Given the description of an element on the screen output the (x, y) to click on. 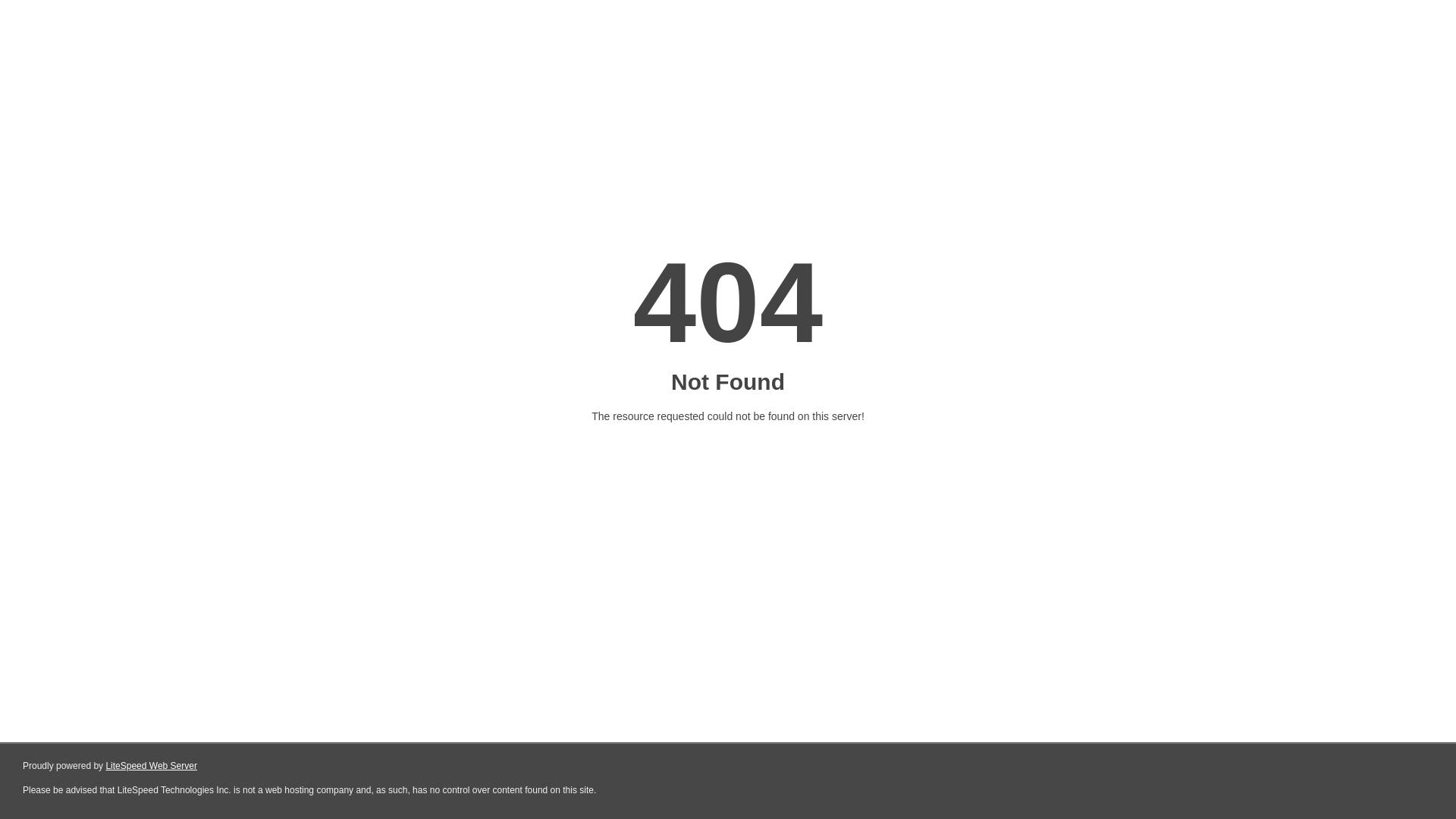
LiteSpeed Web Server Element type: text (151, 765)
